Given the description of an element on the screen output the (x, y) to click on. 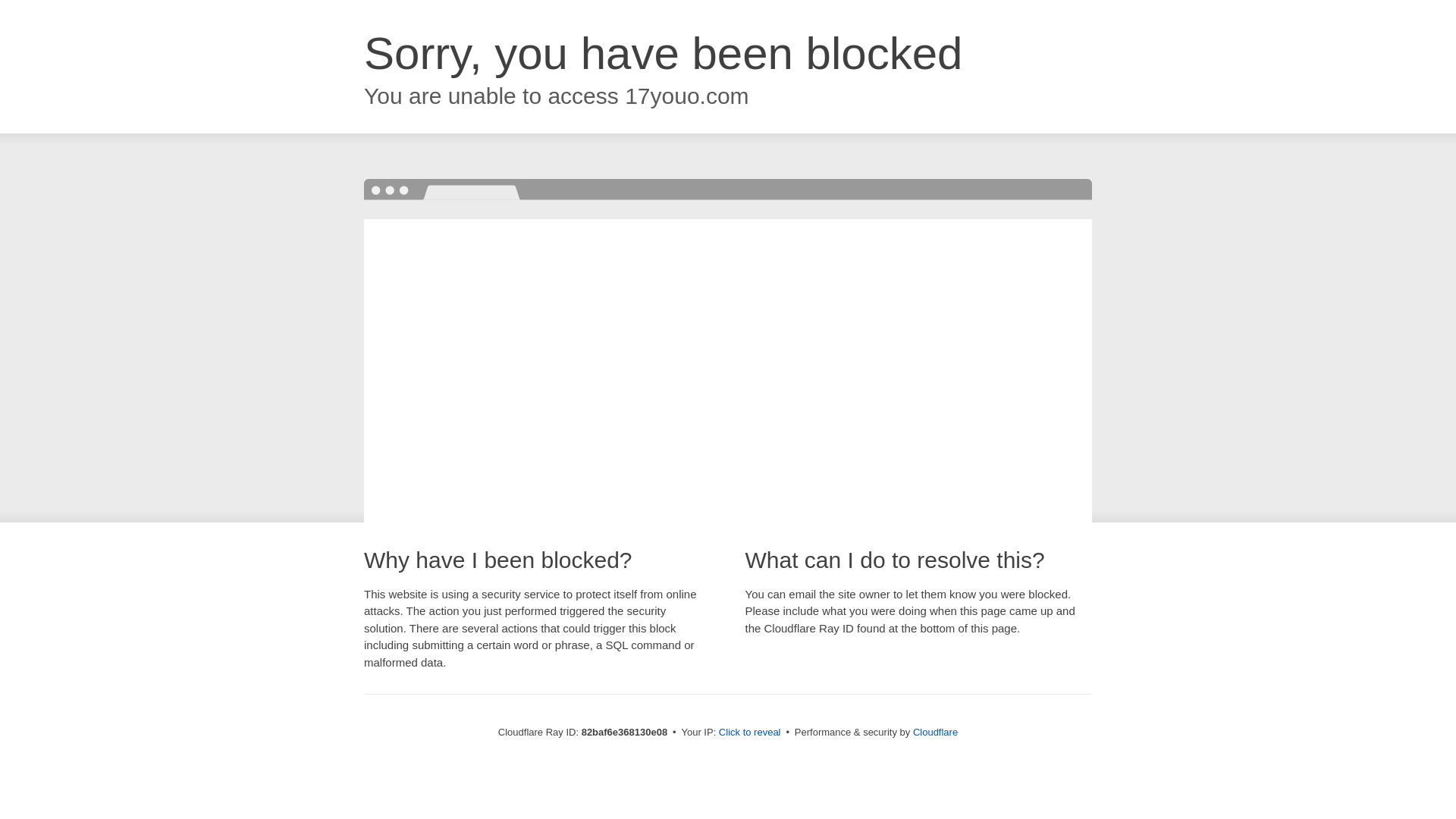
Cloudflare Element type: text (935, 731)
Click to reveal Element type: text (749, 732)
